Given the description of an element on the screen output the (x, y) to click on. 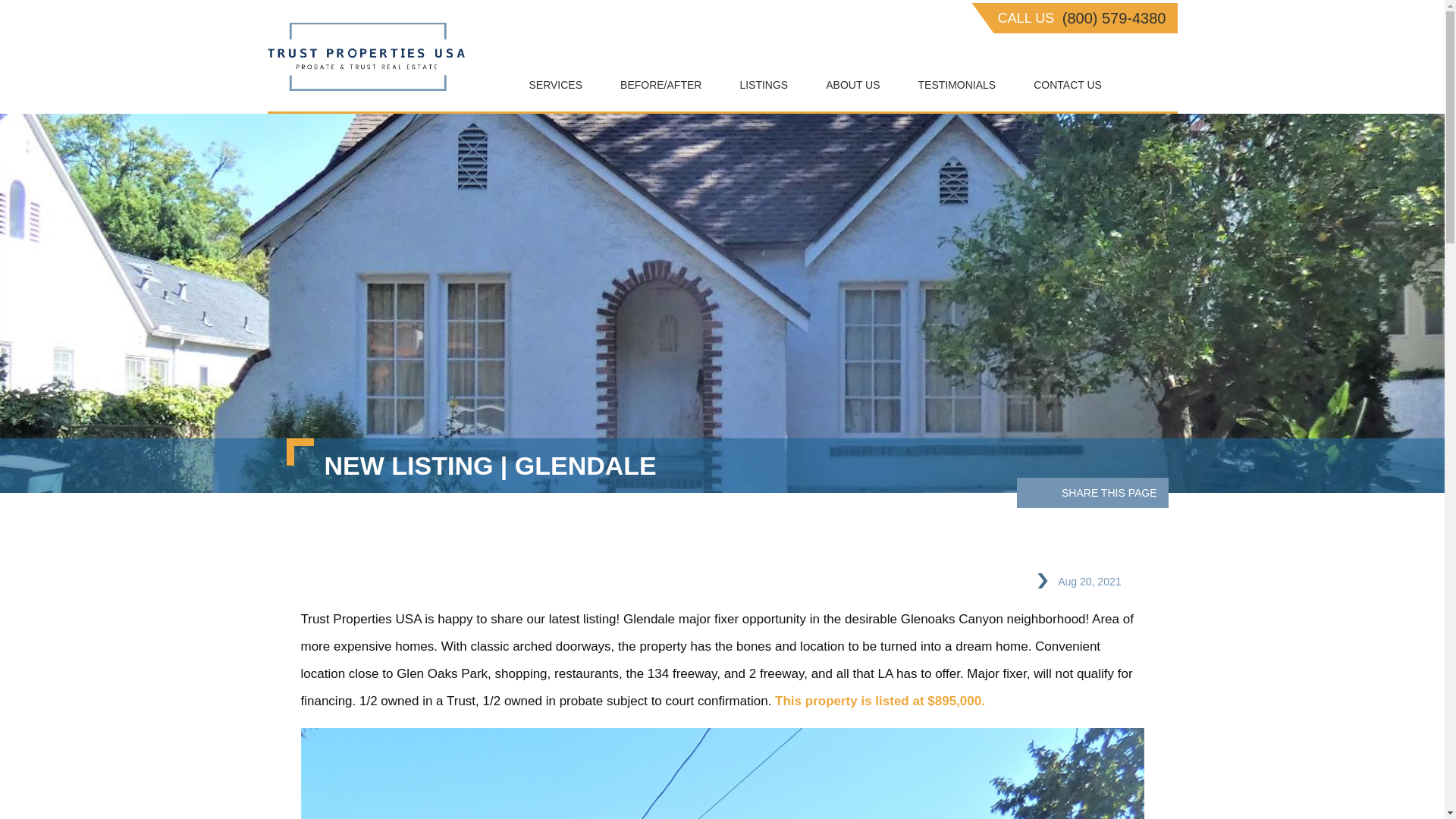
TESTIMONIALS (956, 84)
SERVICES (555, 84)
ABOUT US (852, 84)
LISTINGS (763, 84)
CONTACT US (1067, 84)
